Given the description of an element on the screen output the (x, y) to click on. 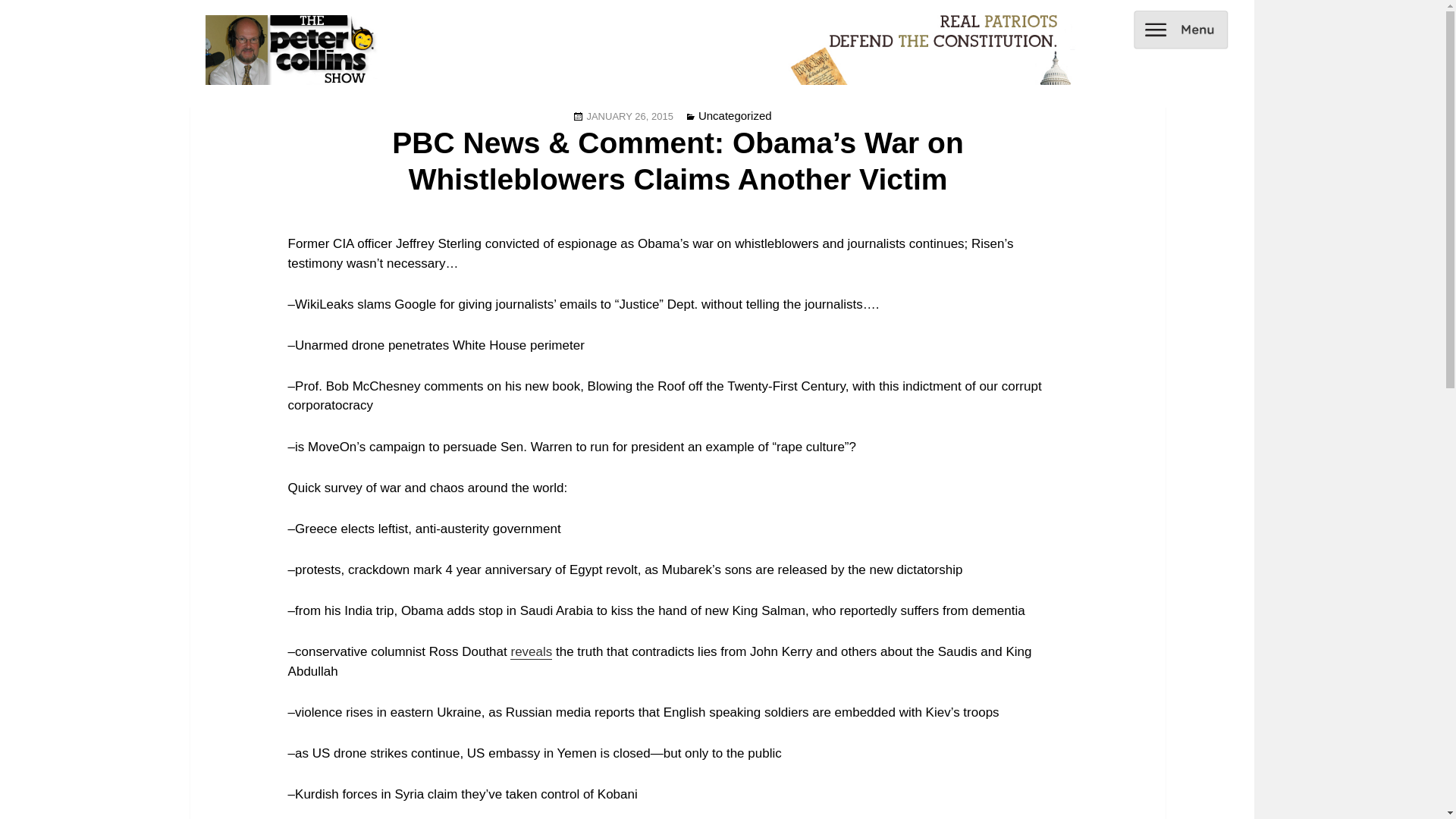
reveals (531, 652)
JANUARY 26, 2015 (629, 116)
